Given the description of an element on the screen output the (x, y) to click on. 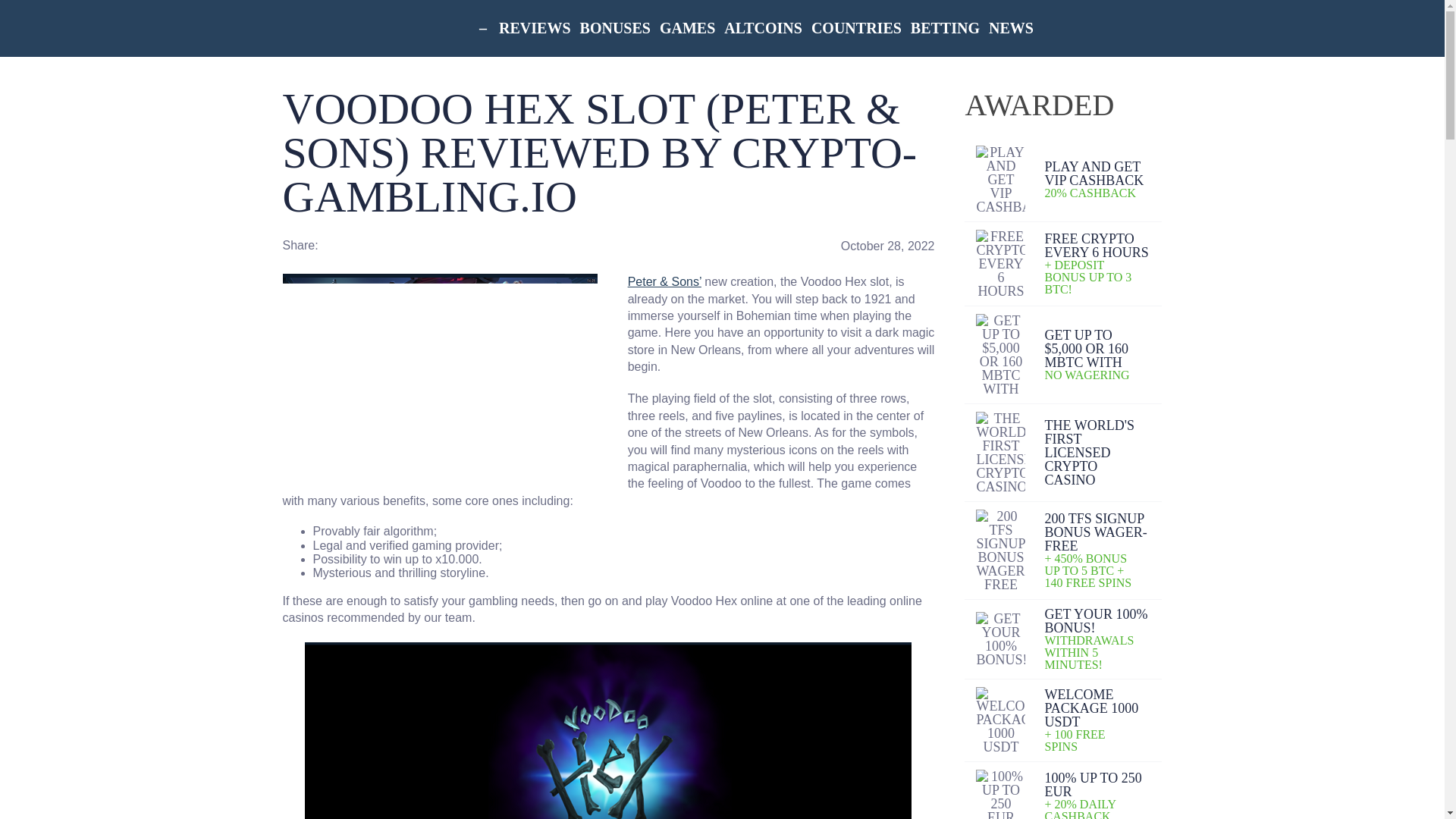
ALTCOINS (762, 28)
crypto-CryptoGambling.io (342, 27)
GAMES (686, 28)
REVIEWS (534, 28)
BONUSES (614, 28)
